Given the description of an element on the screen output the (x, y) to click on. 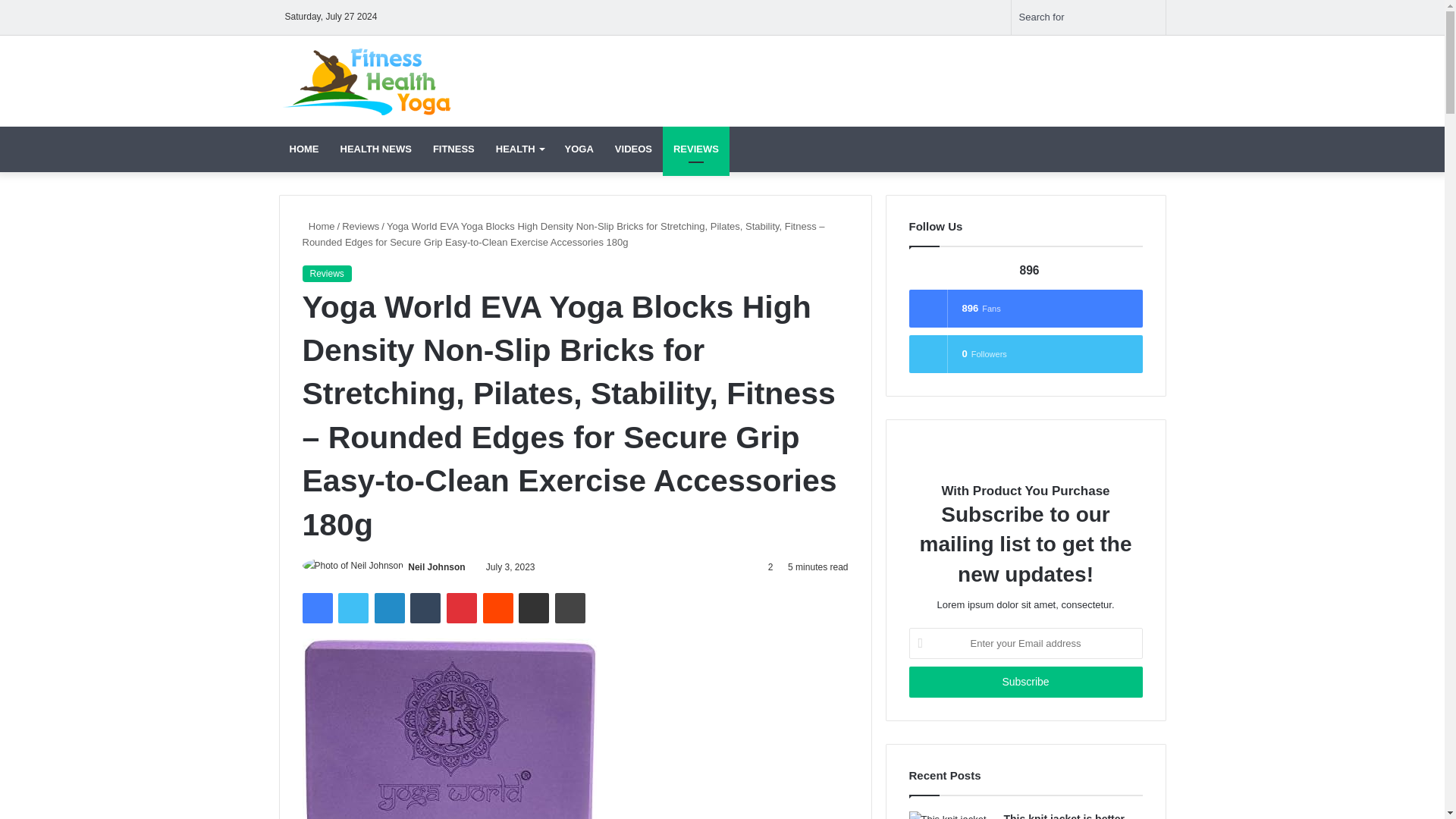
Tumblr (425, 607)
Reddit (498, 607)
Tumblr (425, 607)
REVIEWS (695, 148)
Share via Email (533, 607)
Print (569, 607)
Facebook (316, 607)
Neil Johnson (435, 566)
Reddit (498, 607)
Pinterest (461, 607)
VIDEOS (633, 148)
LinkedIn (389, 607)
Share via Email (533, 607)
Reviews (325, 273)
Pinterest (461, 607)
